Given the description of an element on the screen output the (x, y) to click on. 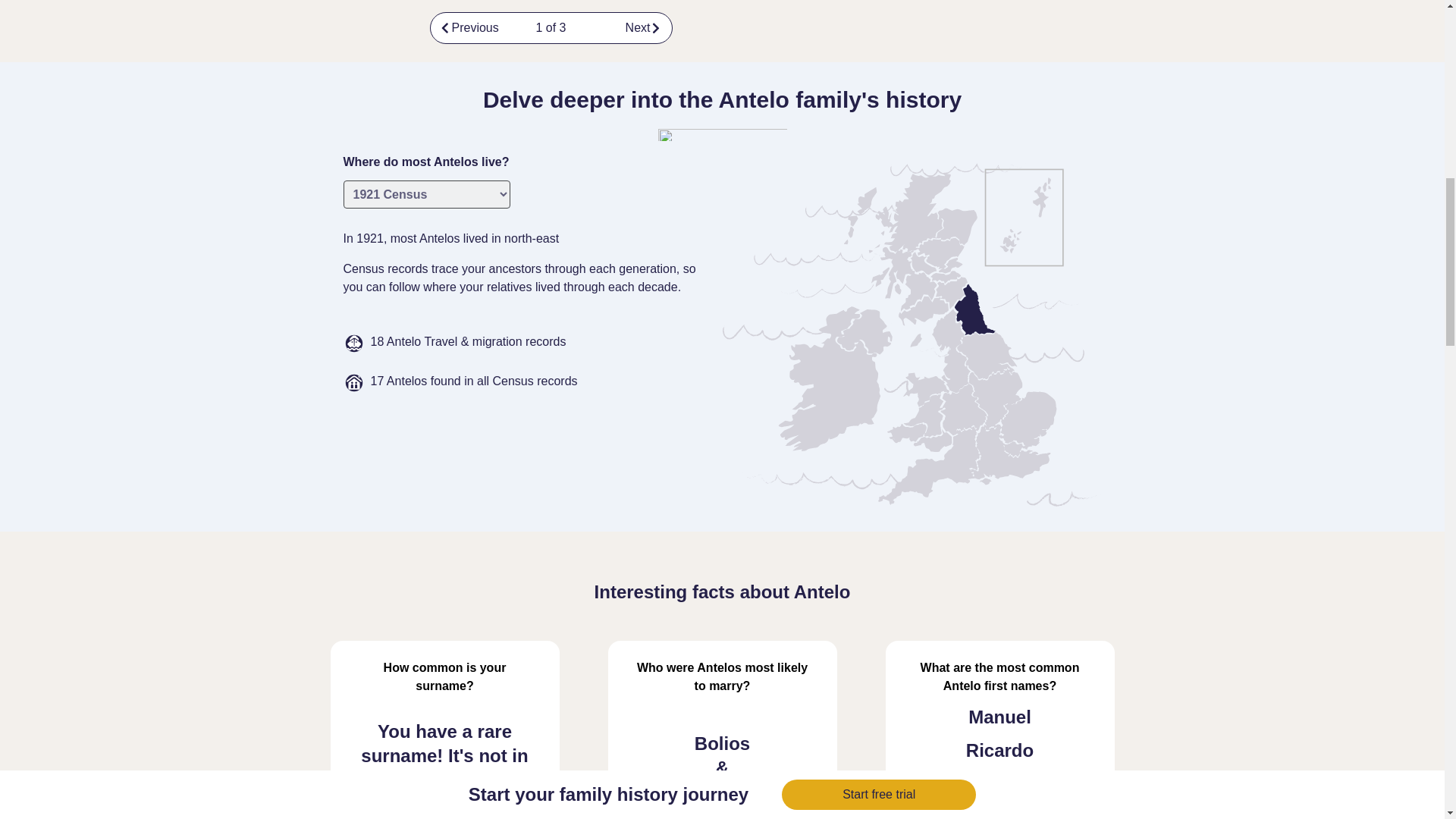
Next (628, 28)
17 Antelos found in all Census records (472, 382)
Previous (472, 28)
